Given the description of an element on the screen output the (x, y) to click on. 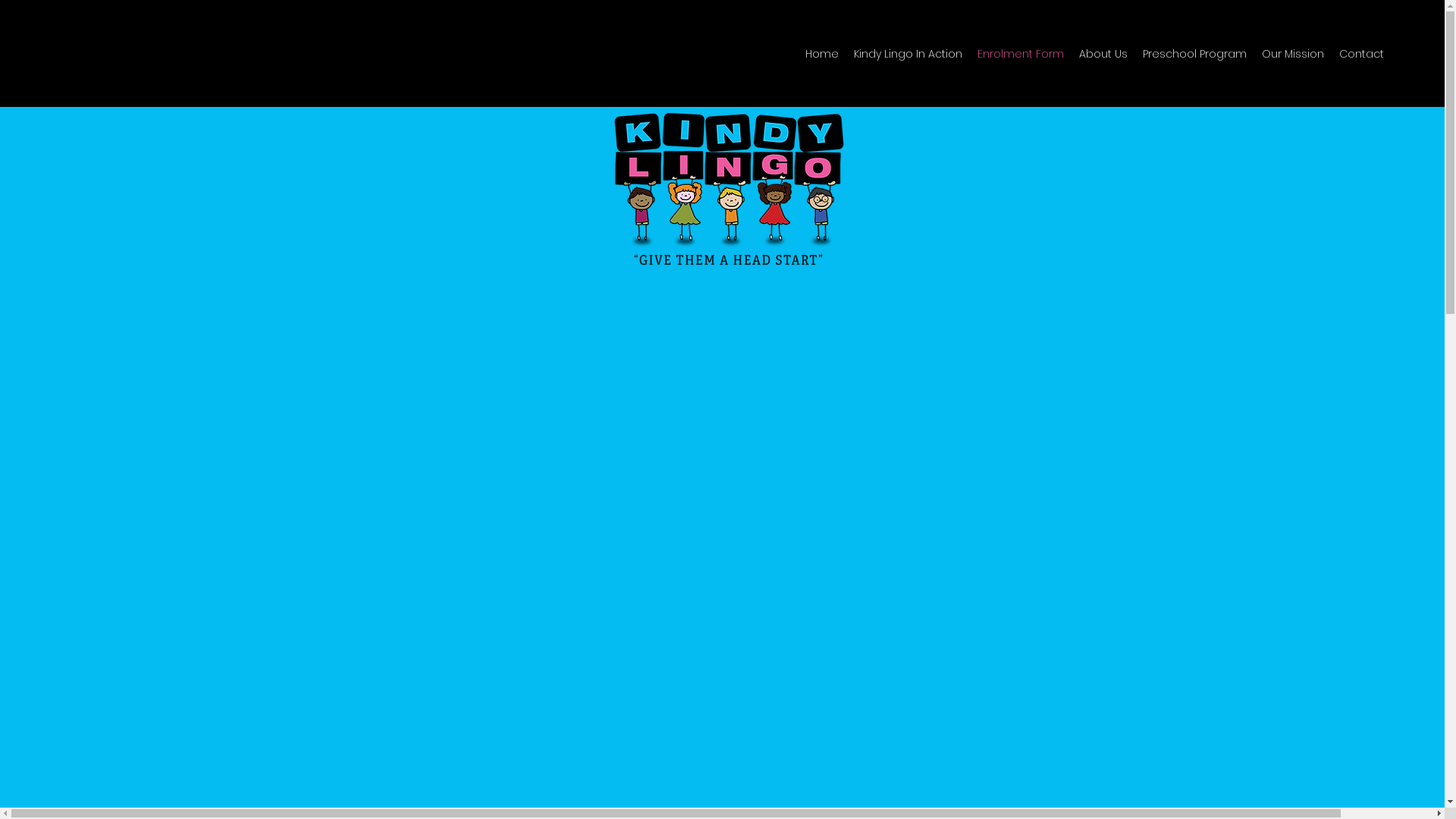
Preschool Program Element type: text (1194, 53)
About Us Element type: text (1103, 53)
Our Mission Element type: text (1292, 53)
Contact Element type: text (1361, 53)
Enrolment Form Element type: text (1020, 53)
Home Element type: text (821, 53)
Kindy Lingo In Action Element type: text (907, 53)
